Given the description of an element on the screen output the (x, y) to click on. 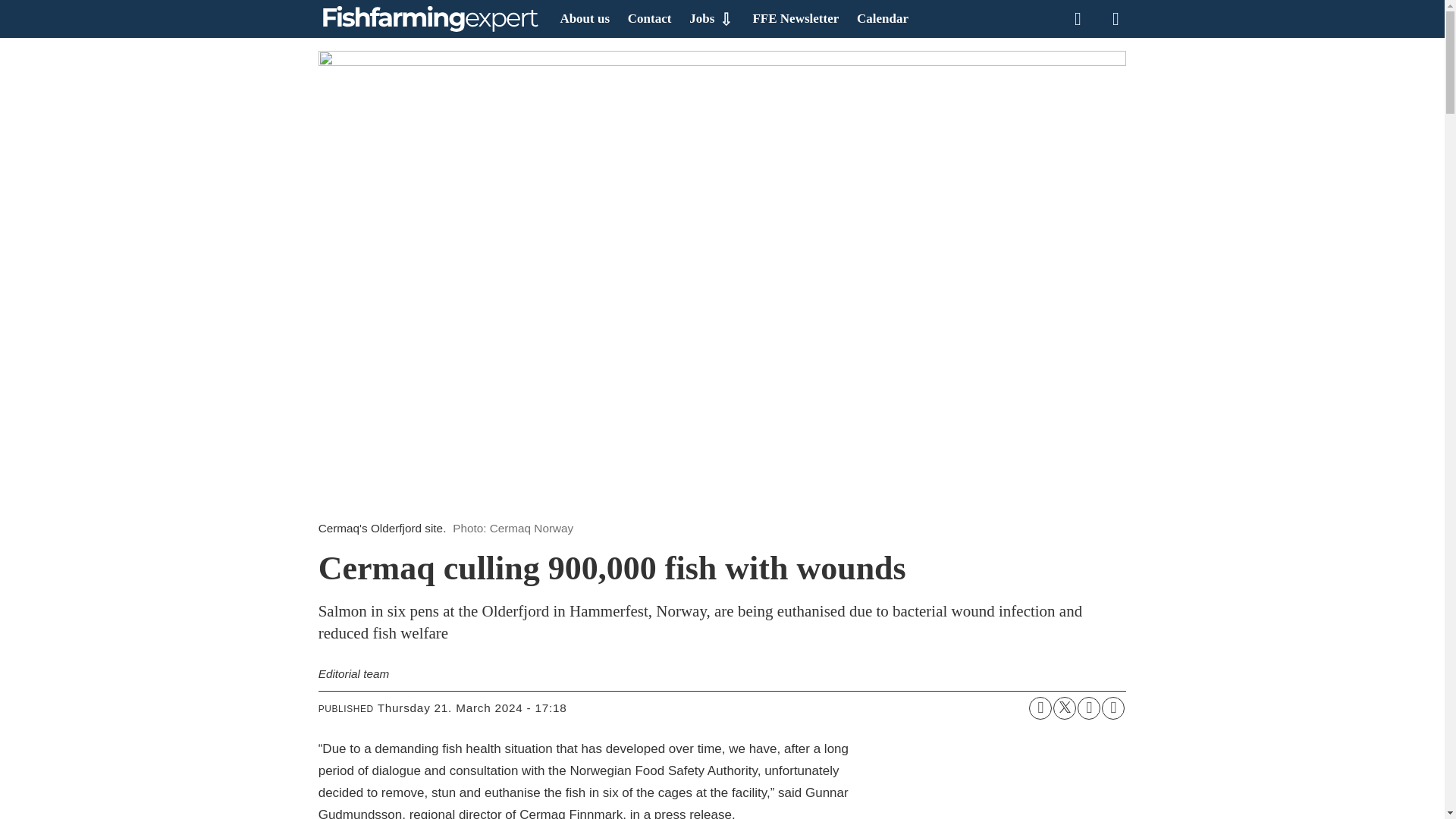
Calendar (882, 18)
Contact (649, 18)
About us (584, 18)
Published thursday 21. March 2024 - 17:18 (472, 708)
FFE Newsletter (795, 18)
